Given the description of an element on the screen output the (x, y) to click on. 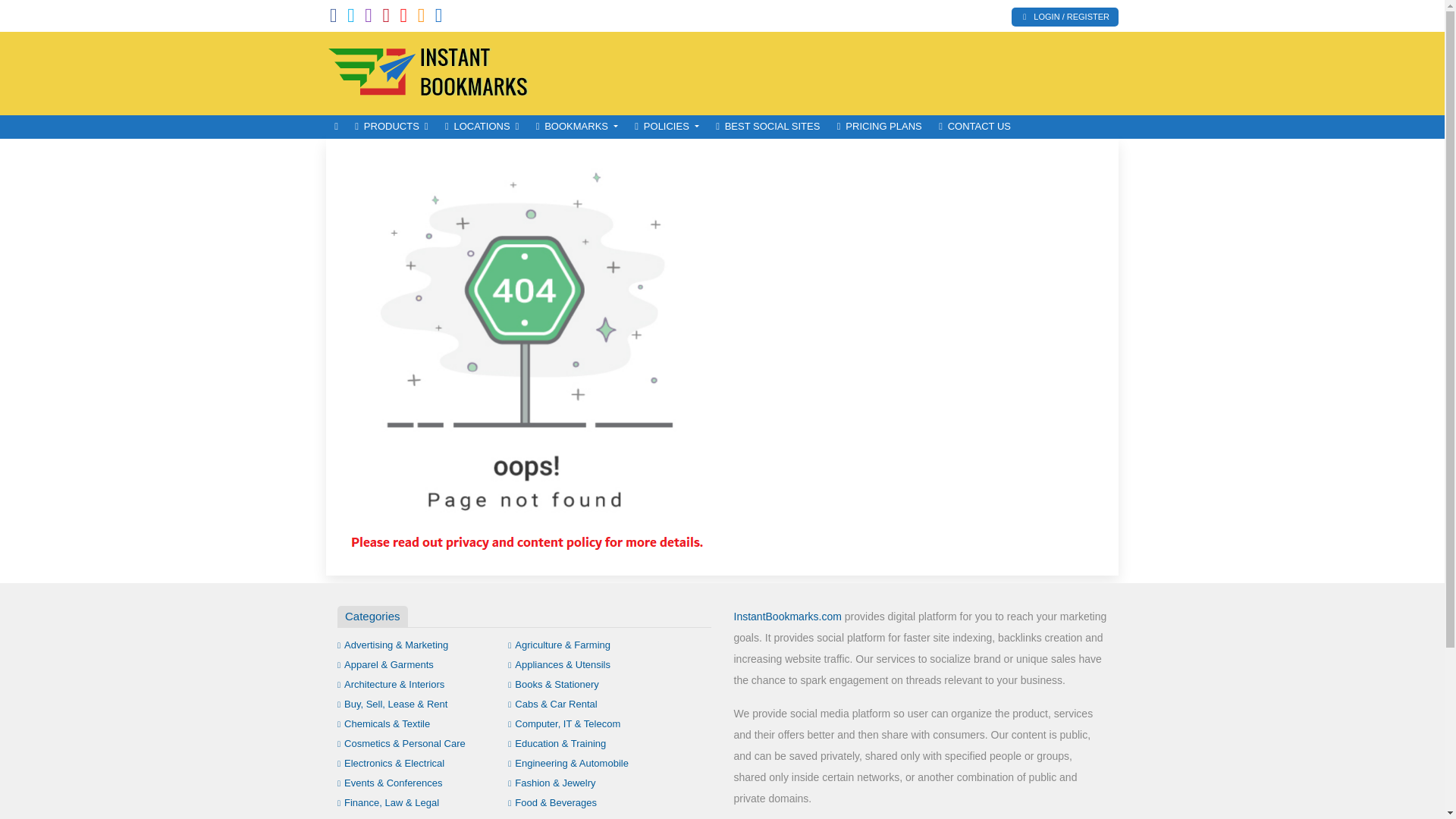
PRODUCTS (391, 126)
Advertise on Digital Media Platform to Reach Marketing Goal (428, 71)
LOCATIONS (481, 126)
